Given the description of an element on the screen output the (x, y) to click on. 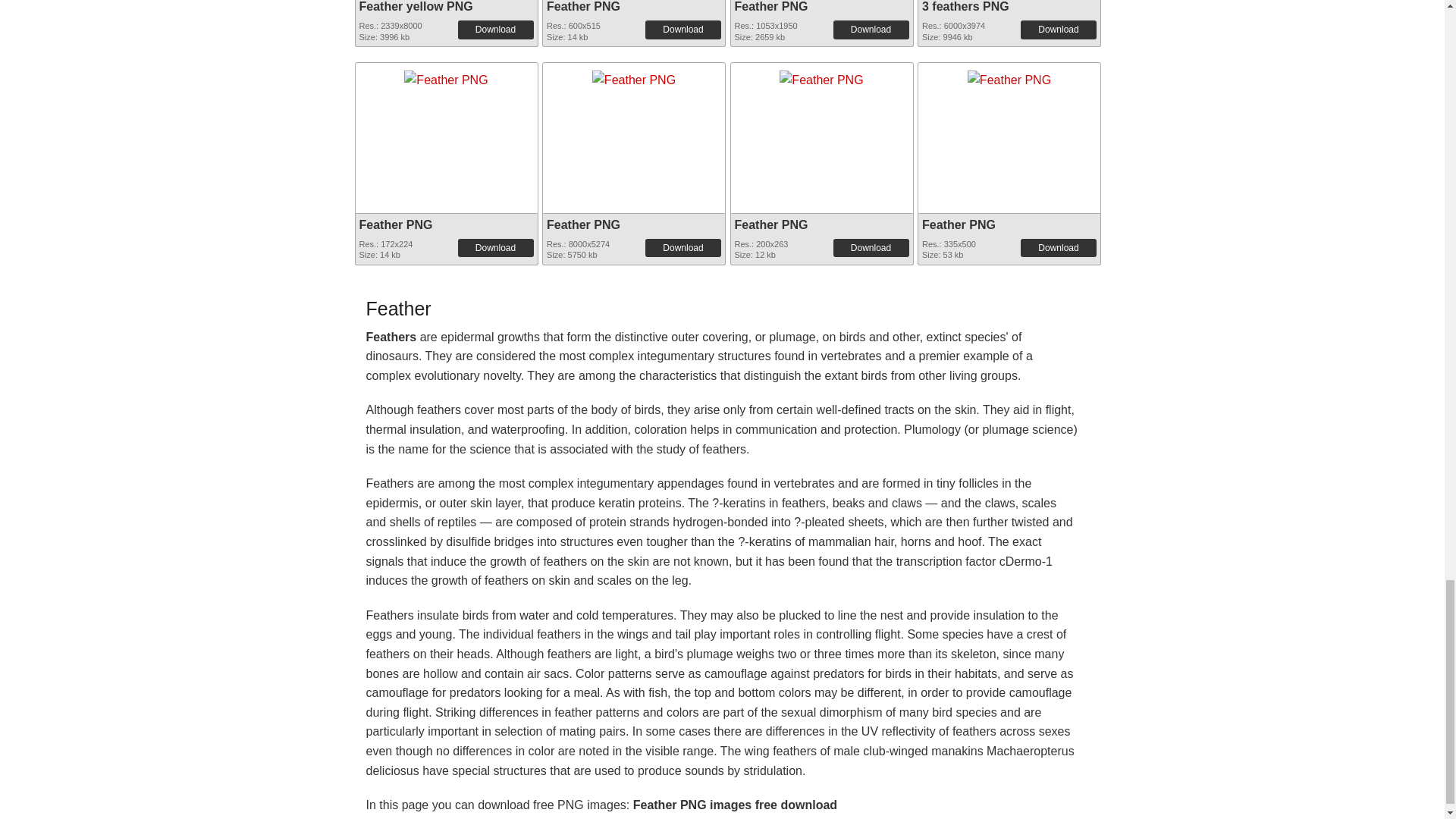
Download (1058, 29)
Feather PNG (445, 74)
3 feathers PNG (965, 6)
Feather PNG (583, 6)
Feather yellow PNG (416, 6)
Feather PNG (633, 74)
Download (496, 29)
Download (682, 29)
Feather PNG (770, 6)
Feather PNG (445, 76)
Download (870, 29)
